Given the description of an element on the screen output the (x, y) to click on. 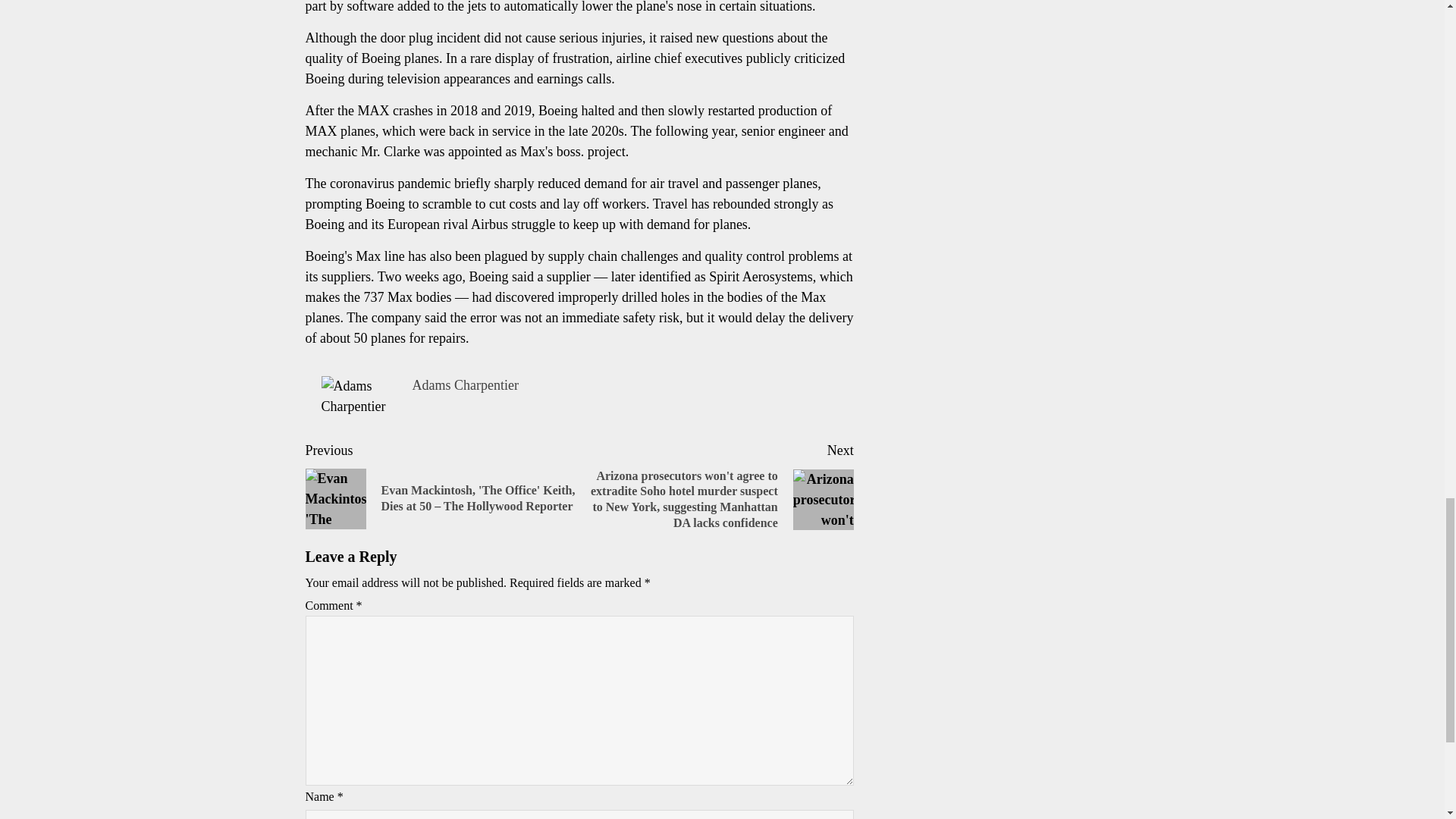
Adams Charpentier (465, 385)
